Given the description of an element on the screen output the (x, y) to click on. 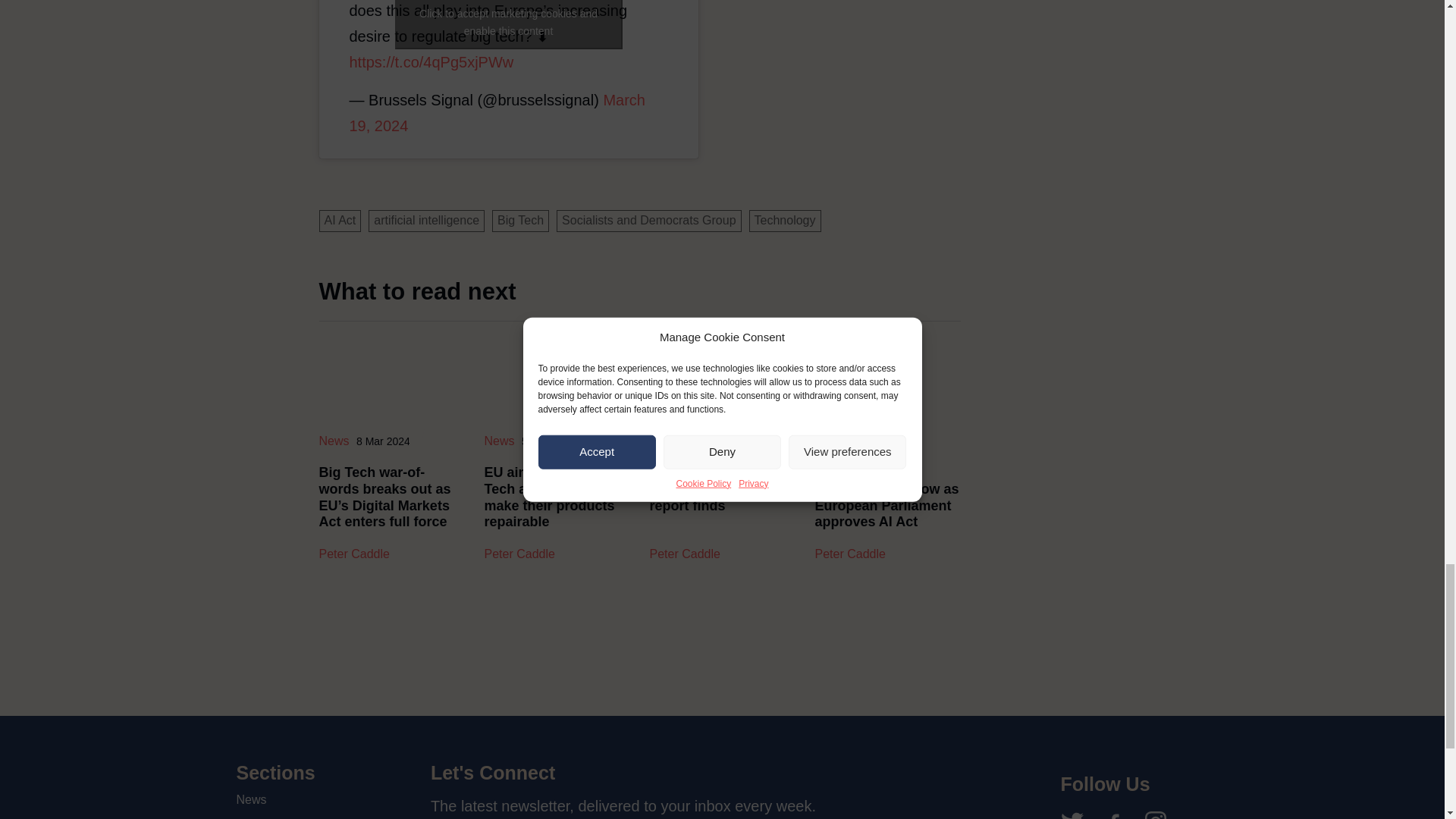
March 19, 2024 (497, 112)
